Given the description of an element on the screen output the (x, y) to click on. 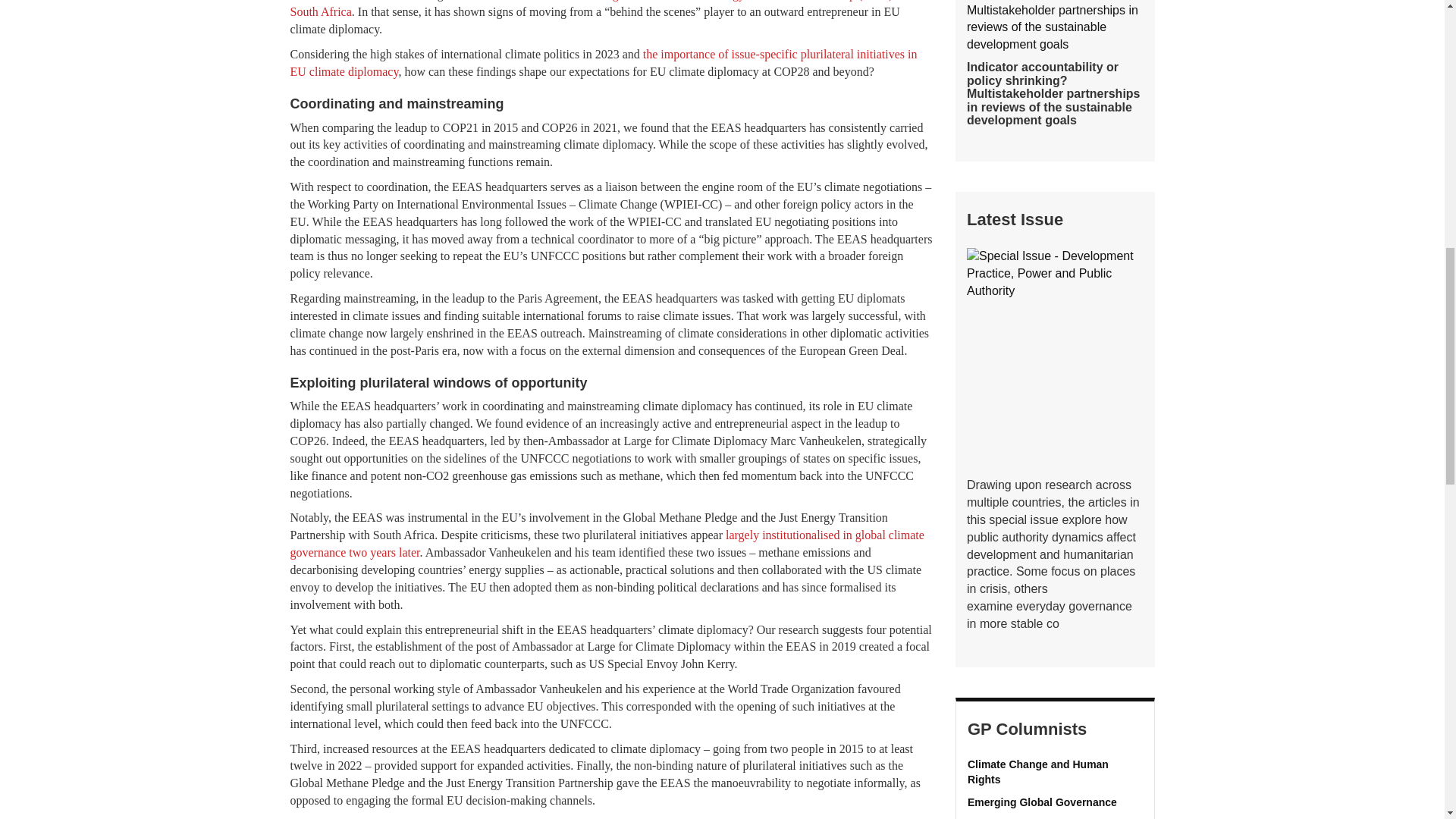
View user profile. (1055, 802)
View user profile. (1055, 772)
